Given the description of an element on the screen output the (x, y) to click on. 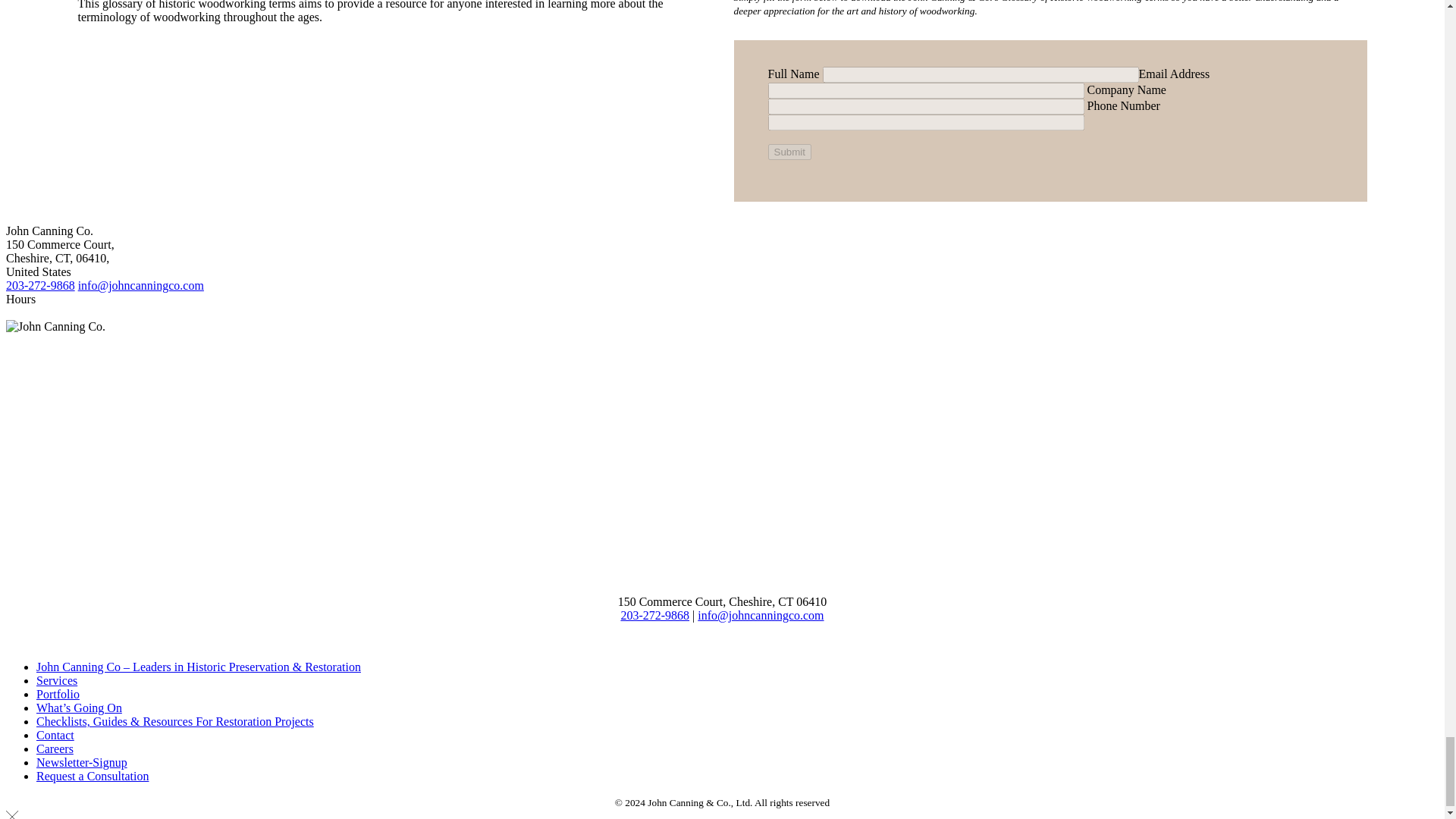
Submit (788, 151)
